Given the description of an element on the screen output the (x, y) to click on. 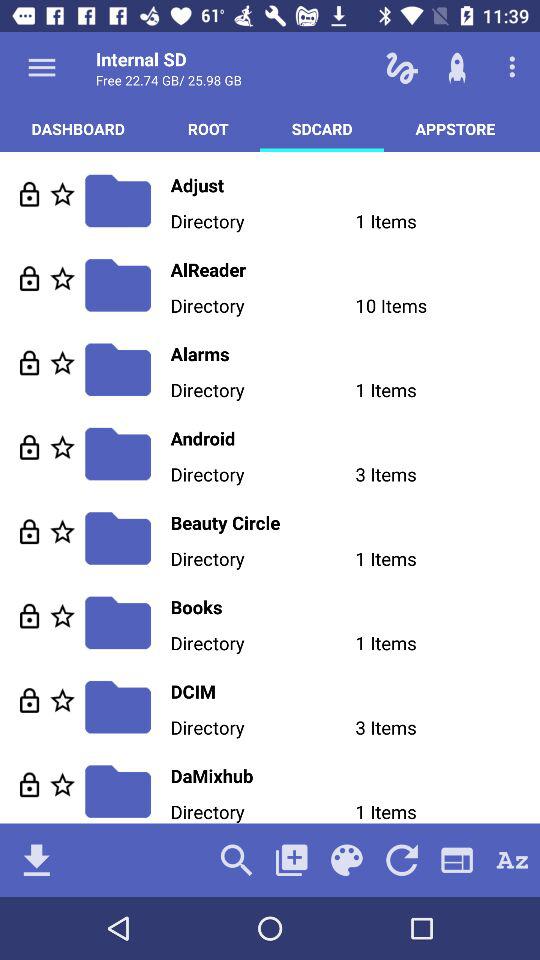
show options (42, 67)
